Given the description of an element on the screen output the (x, y) to click on. 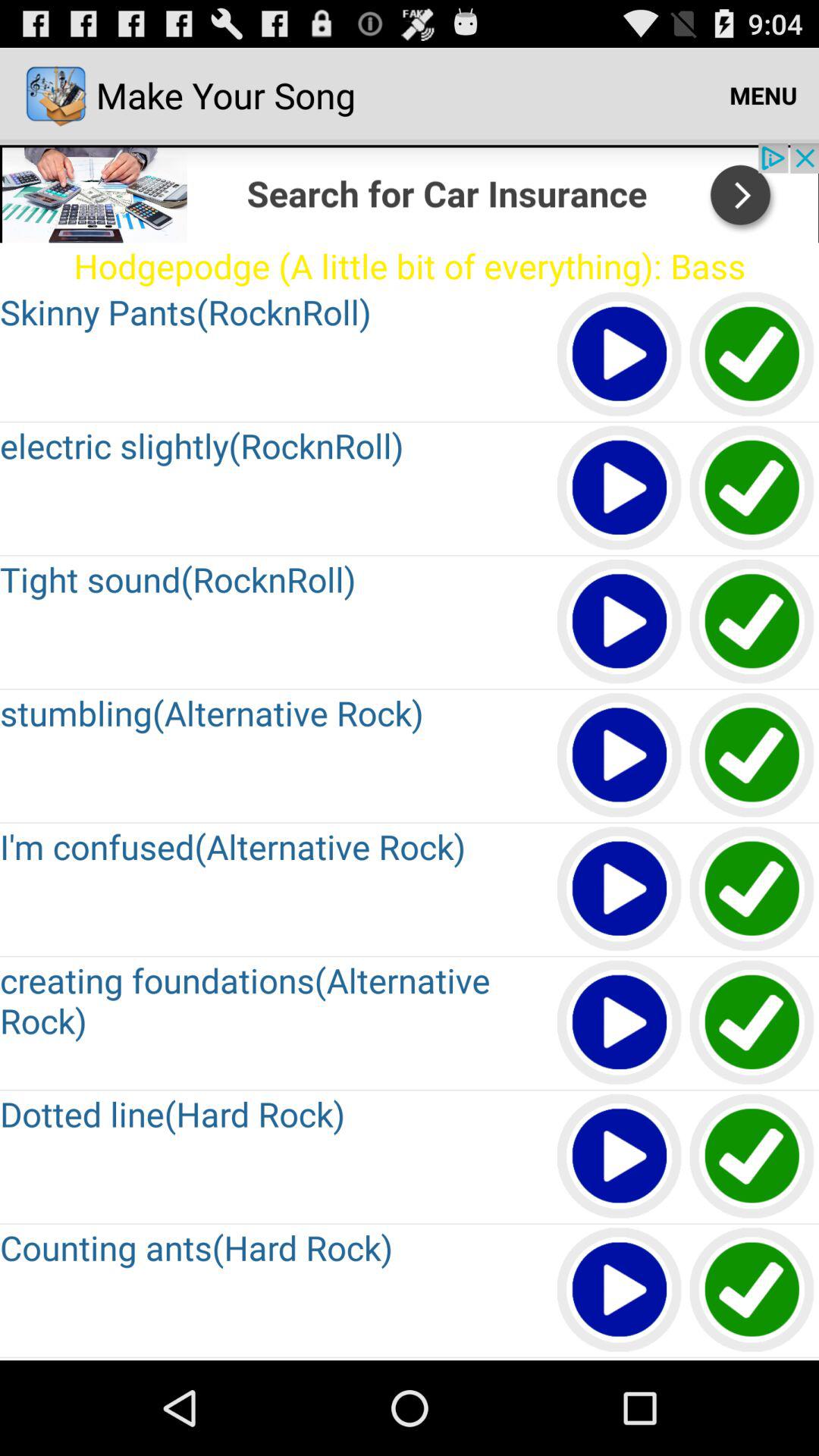
select this song (752, 354)
